Given the description of an element on the screen output the (x, y) to click on. 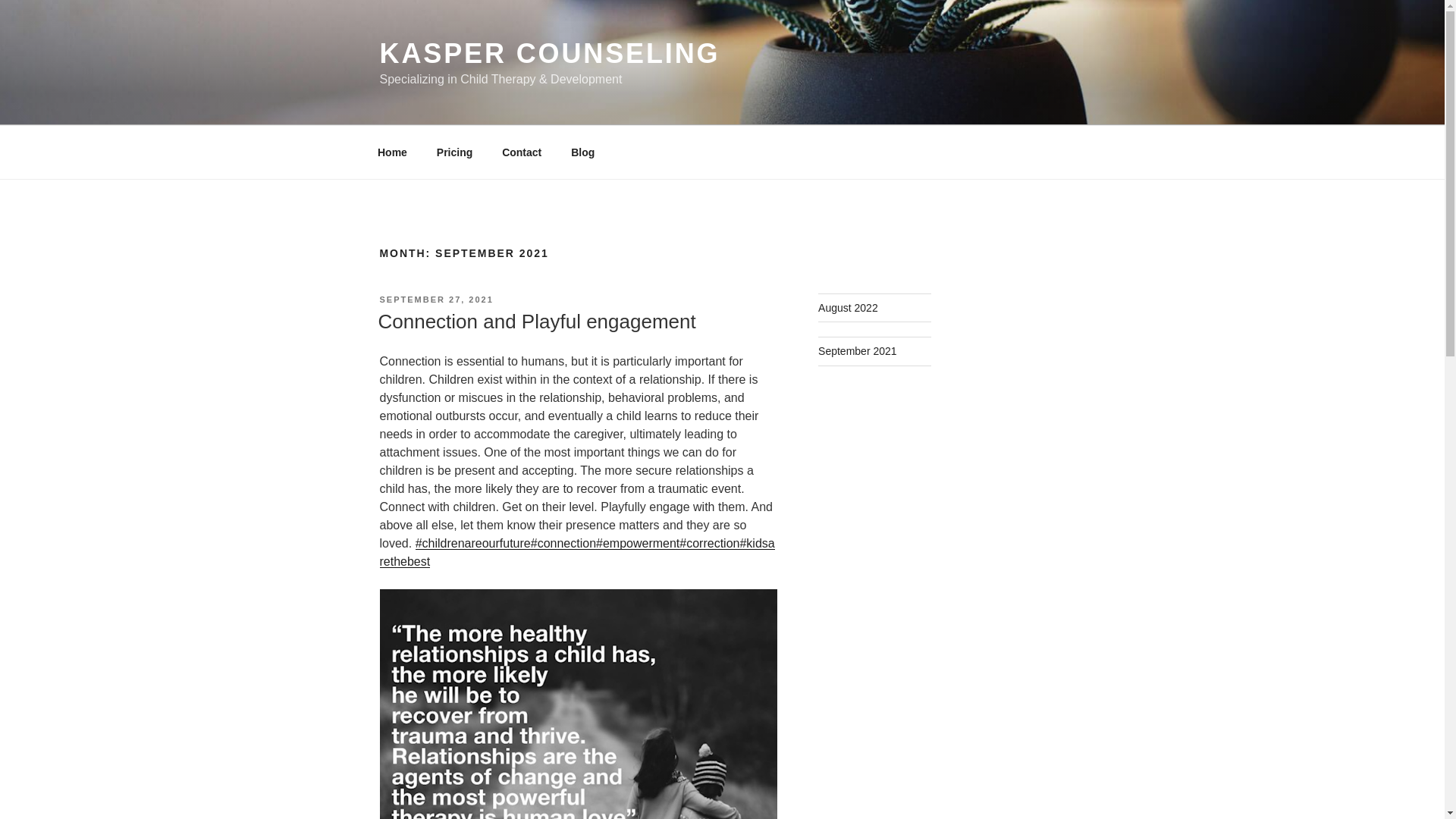
August 2022 (847, 307)
Connection and Playful engagement (536, 321)
September 2021 (857, 350)
Pricing (453, 151)
Home (392, 151)
Contact (521, 151)
SEPTEMBER 27, 2021 (435, 298)
KASPER COUNSELING (548, 52)
Blog (582, 151)
